Given the description of an element on the screen output the (x, y) to click on. 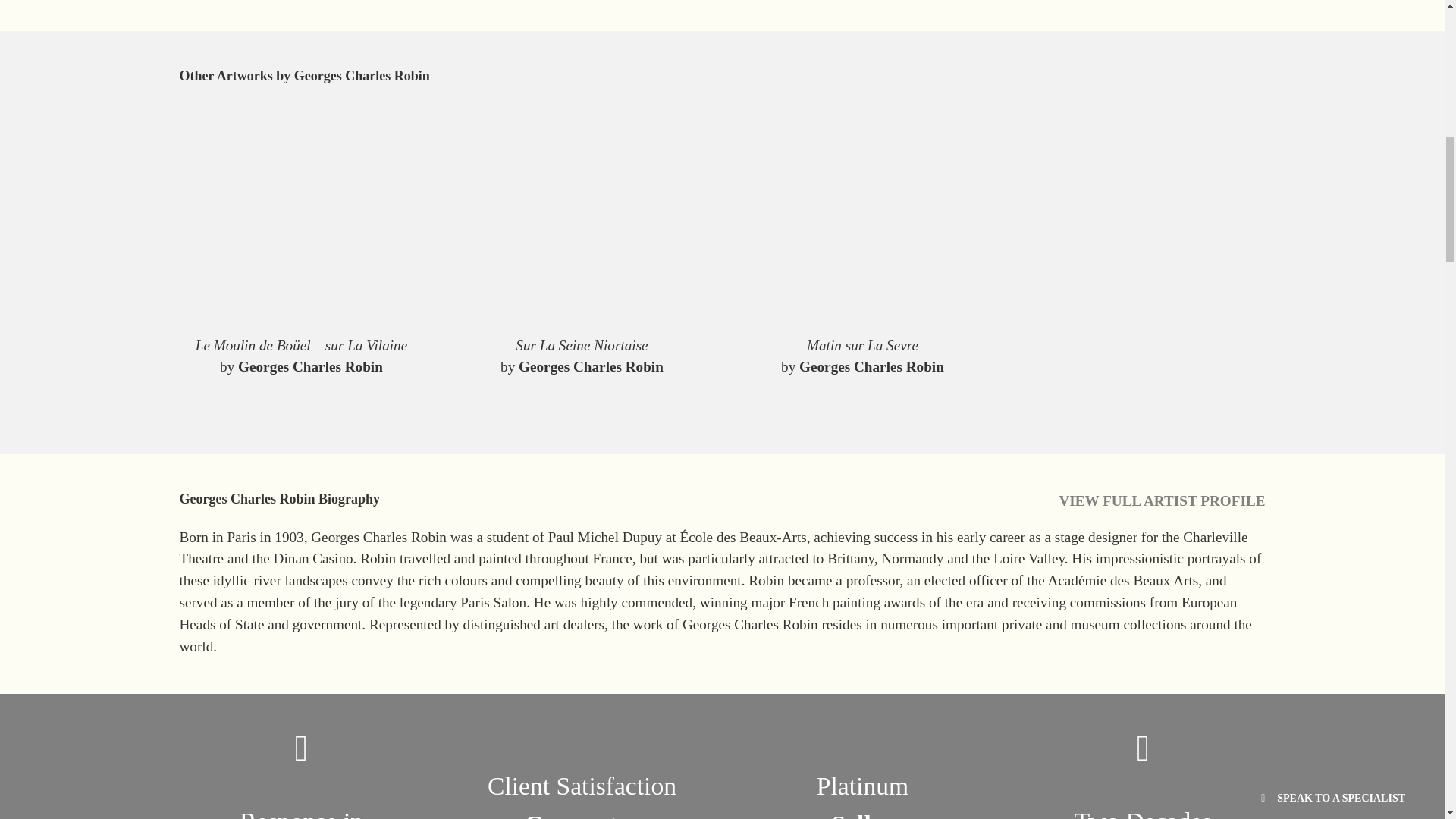
by Georges Charles Robin (861, 367)
by Georges Charles Robin (301, 367)
by Georges Charles Robin (581, 367)
Sur La Seine Niortaise (581, 345)
VIEW FULL ARTIST PROFILE (1161, 502)
Matin sur La Sevre (861, 345)
